Given the description of an element on the screen output the (x, y) to click on. 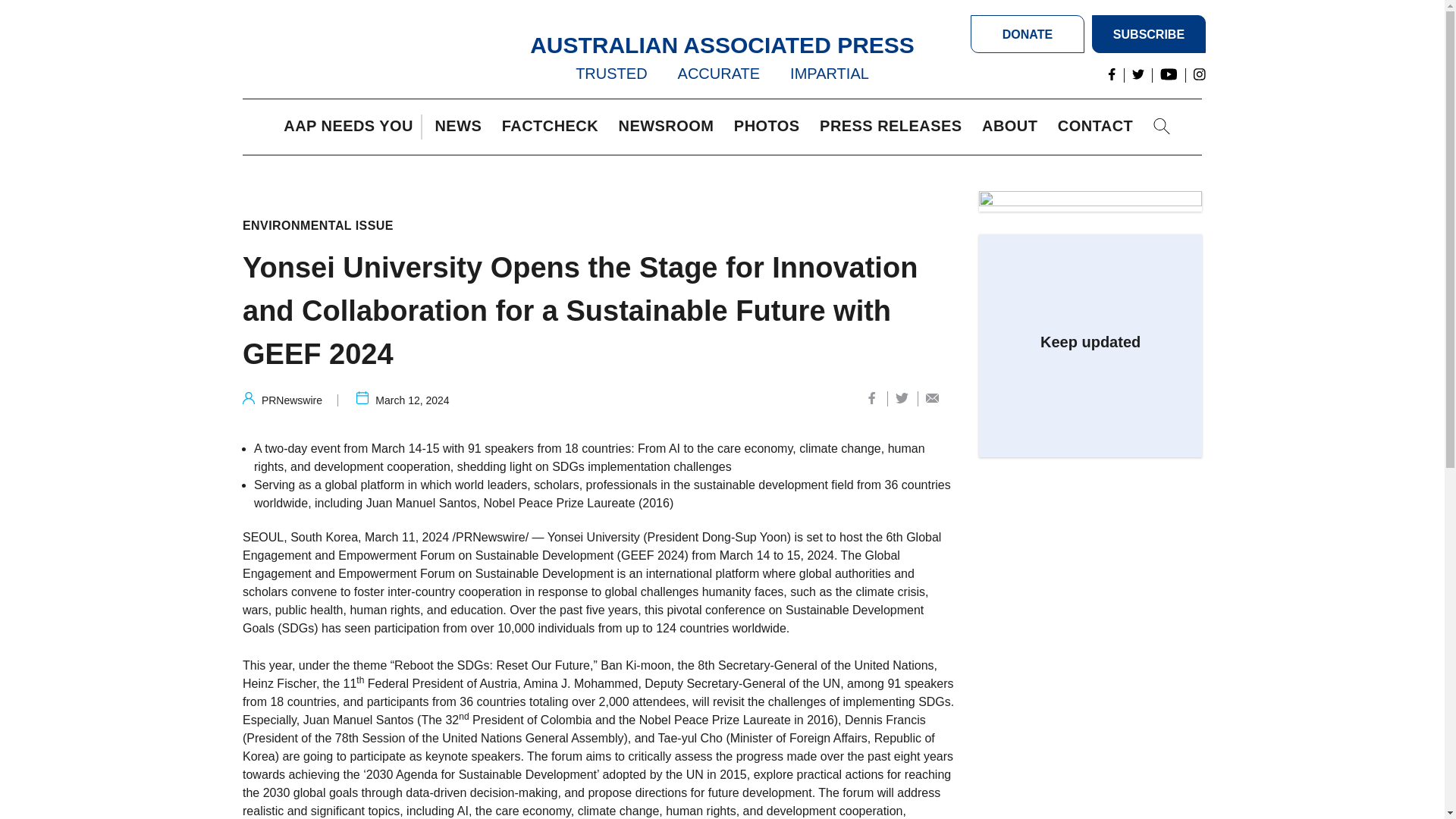
CONTACT (1099, 126)
PRESS RELEASES (894, 126)
AUSTRALIAN ASSOCIATED PRESS (721, 44)
PHOTOS (770, 126)
NEWS (461, 126)
DONATE (1027, 34)
SUBSCRIBE (1148, 34)
ABOUT (1013, 126)
NEWSROOM (670, 126)
AAP NEEDS YOU (351, 126)
